Given the description of an element on the screen output the (x, y) to click on. 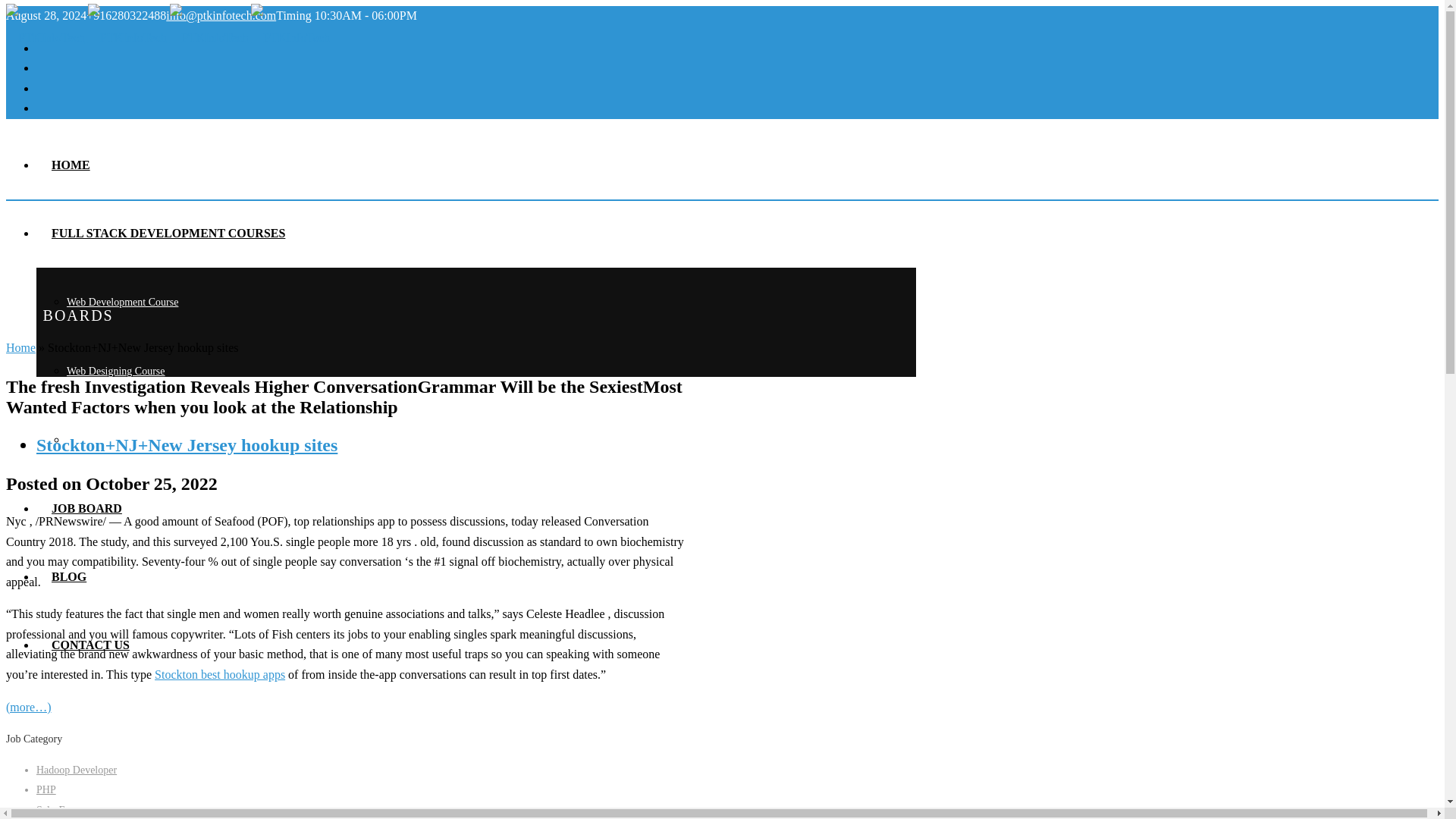
SalesForce (59, 809)
Stockton best hookup apps (219, 674)
Web Development Course (121, 301)
Home (19, 347)
HOME (70, 164)
PHP (46, 789)
Web Designing Course (115, 370)
PTKInfoTech (167, 37)
BLOG (68, 576)
Hadoop Developer (76, 769)
